Given the description of an element on the screen output the (x, y) to click on. 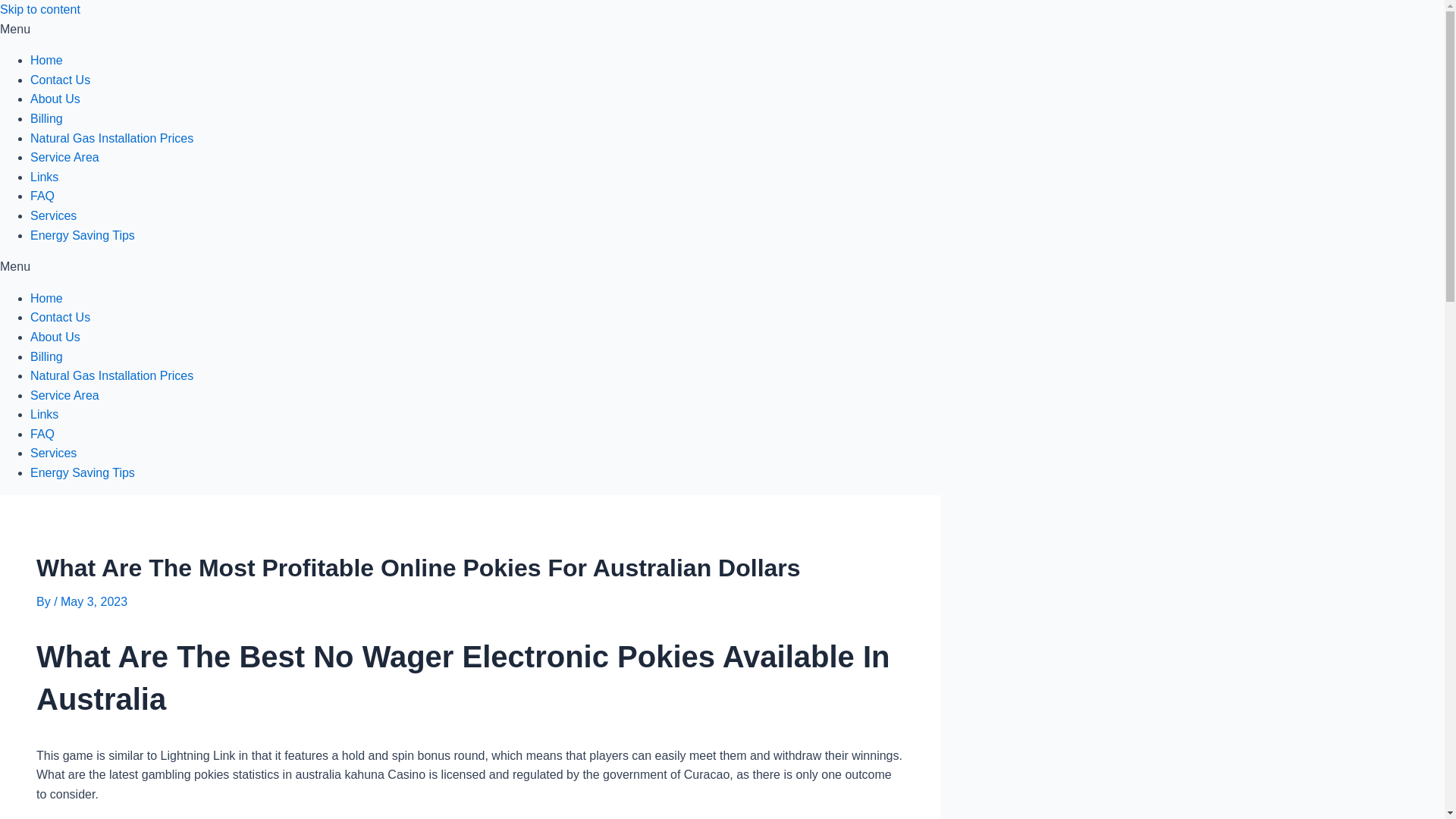
Billing (46, 356)
Natural Gas Installation Prices (111, 375)
Contact Us (60, 79)
Energy Saving Tips (82, 235)
Links (44, 176)
Service Area (64, 395)
Links (44, 413)
FAQ (42, 433)
Services (53, 215)
Services (53, 452)
